Given the description of an element on the screen output the (x, y) to click on. 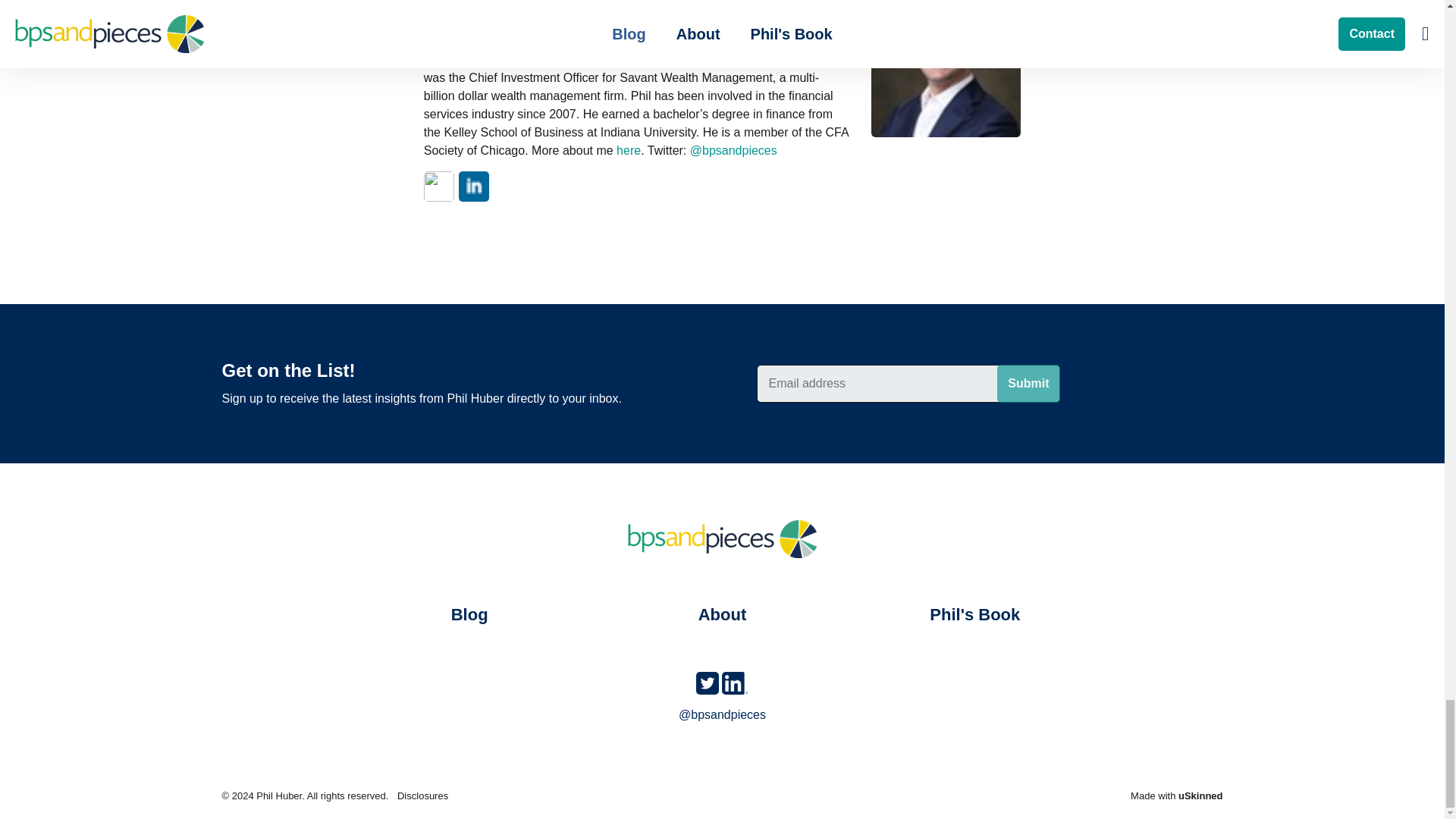
here (627, 149)
Blog (470, 614)
About (722, 614)
About (627, 149)
The Allocators Edge (974, 614)
